Given the description of an element on the screen output the (x, y) to click on. 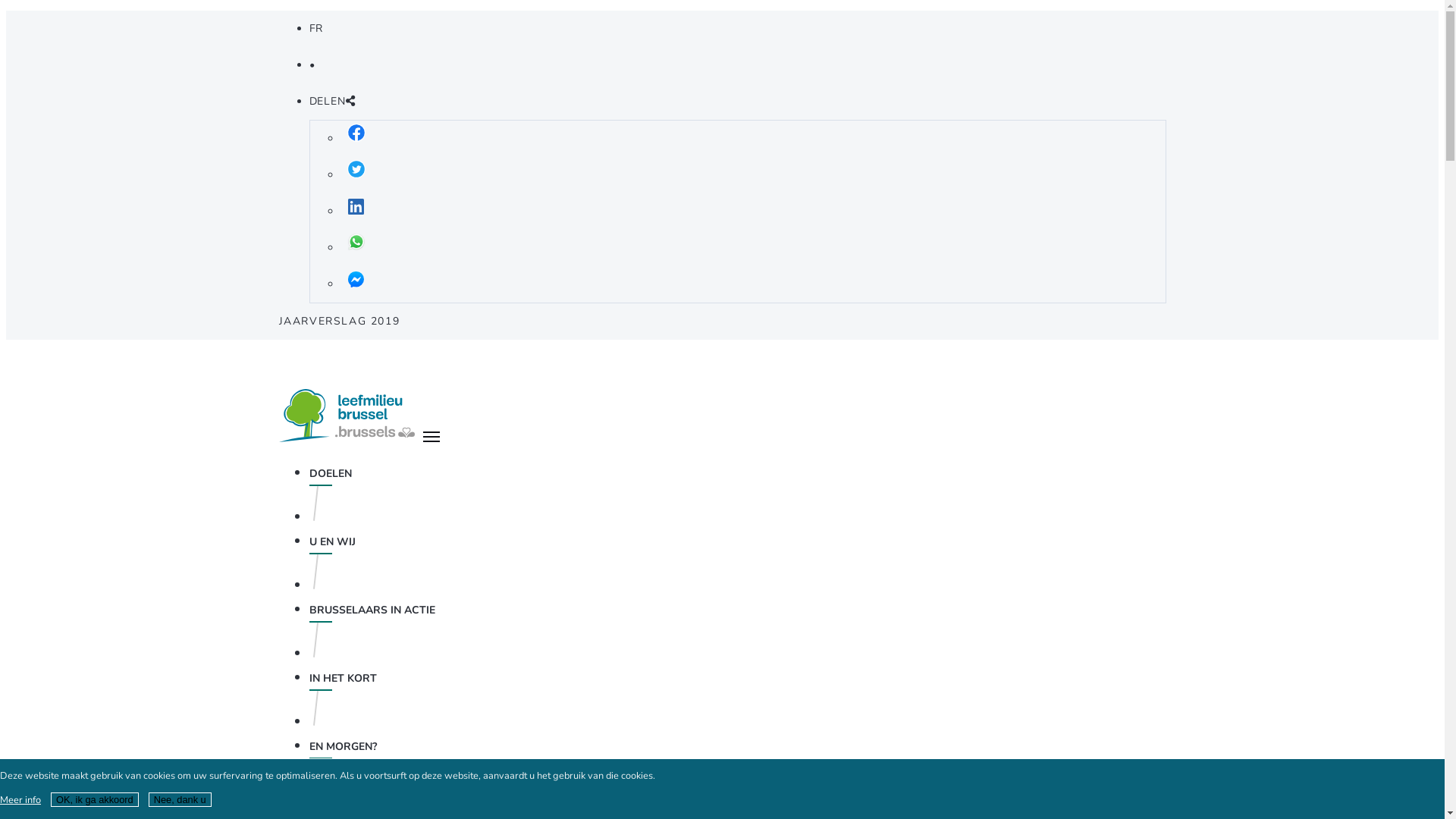
DOELEN Element type: text (330, 473)
IN HET KORT Element type: text (342, 678)
Delen met LinkedIn Element type: hover (355, 211)
OK, ik ga akkoord Element type: text (94, 799)
Delen met Facebook Element type: hover (355, 138)
Nee, dank u Element type: text (179, 799)
Meer info Element type: text (20, 799)
FR Element type: text (316, 28)
Delen met Twitter Element type: hover (355, 174)
Delen met Whatsapp Element type: hover (355, 247)
EN MORGEN? Element type: text (342, 746)
DELEN Element type: text (332, 101)
BRUSSELAARS IN ACTIE Element type: text (372, 609)
U EN WIJ Element type: text (332, 541)
Jaarverslag 2019 - Ontvangst Element type: hover (349, 437)
Delen met Messenger Element type: hover (355, 284)
